Given the description of an element on the screen output the (x, y) to click on. 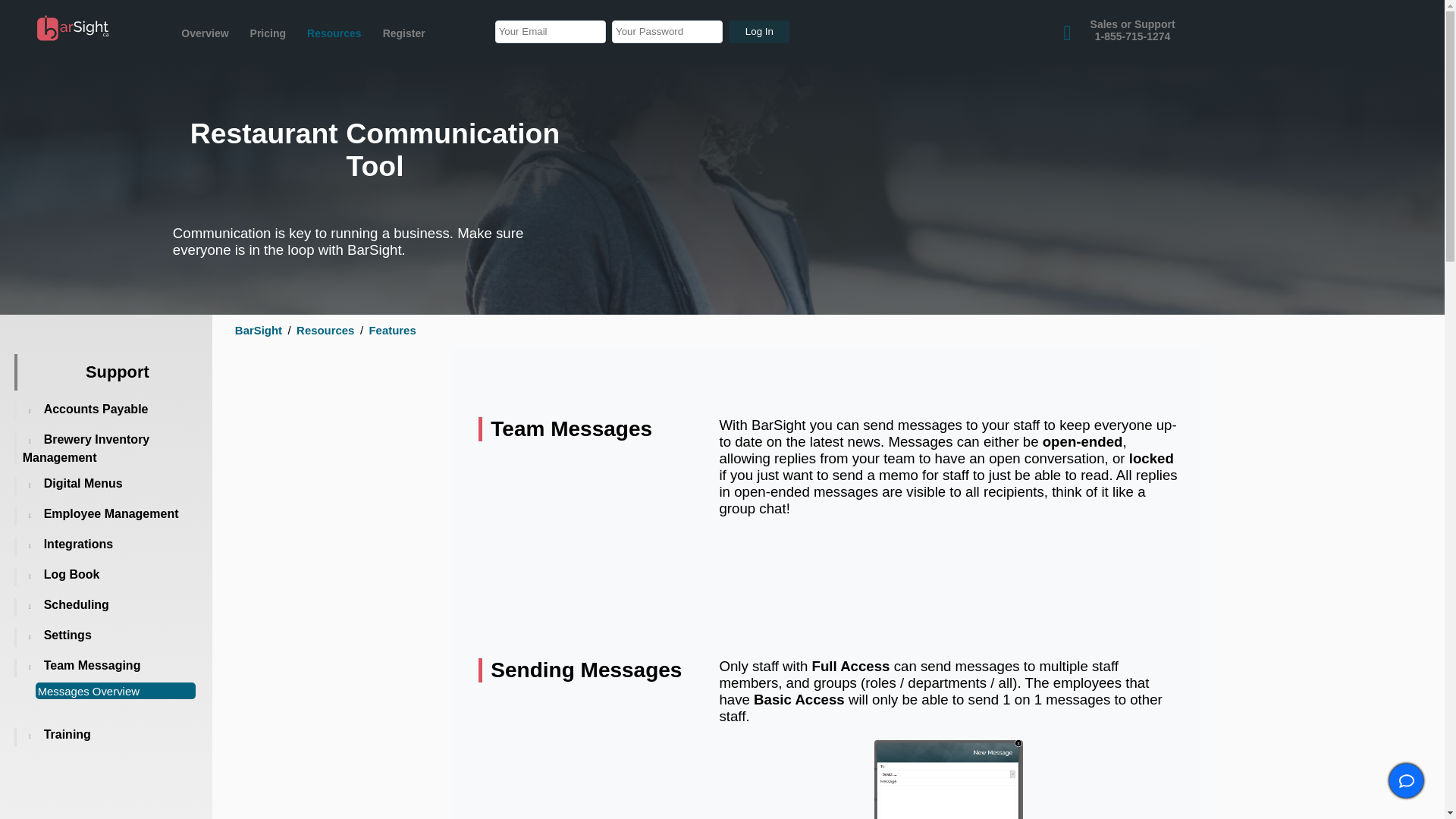
Register (403, 32)
BarSight (72, 28)
Log In (759, 31)
Pricing (1132, 30)
Accounts Payable (268, 32)
Log In (95, 408)
Log Book (759, 31)
Scheduling (71, 574)
BarSight Restaurant Systems - Employee Messages (76, 604)
Overview (948, 779)
Resources (204, 32)
Digital Menus (334, 32)
Integrations (82, 482)
Brewery Inventory Management (78, 543)
